Given the description of an element on the screen output the (x, y) to click on. 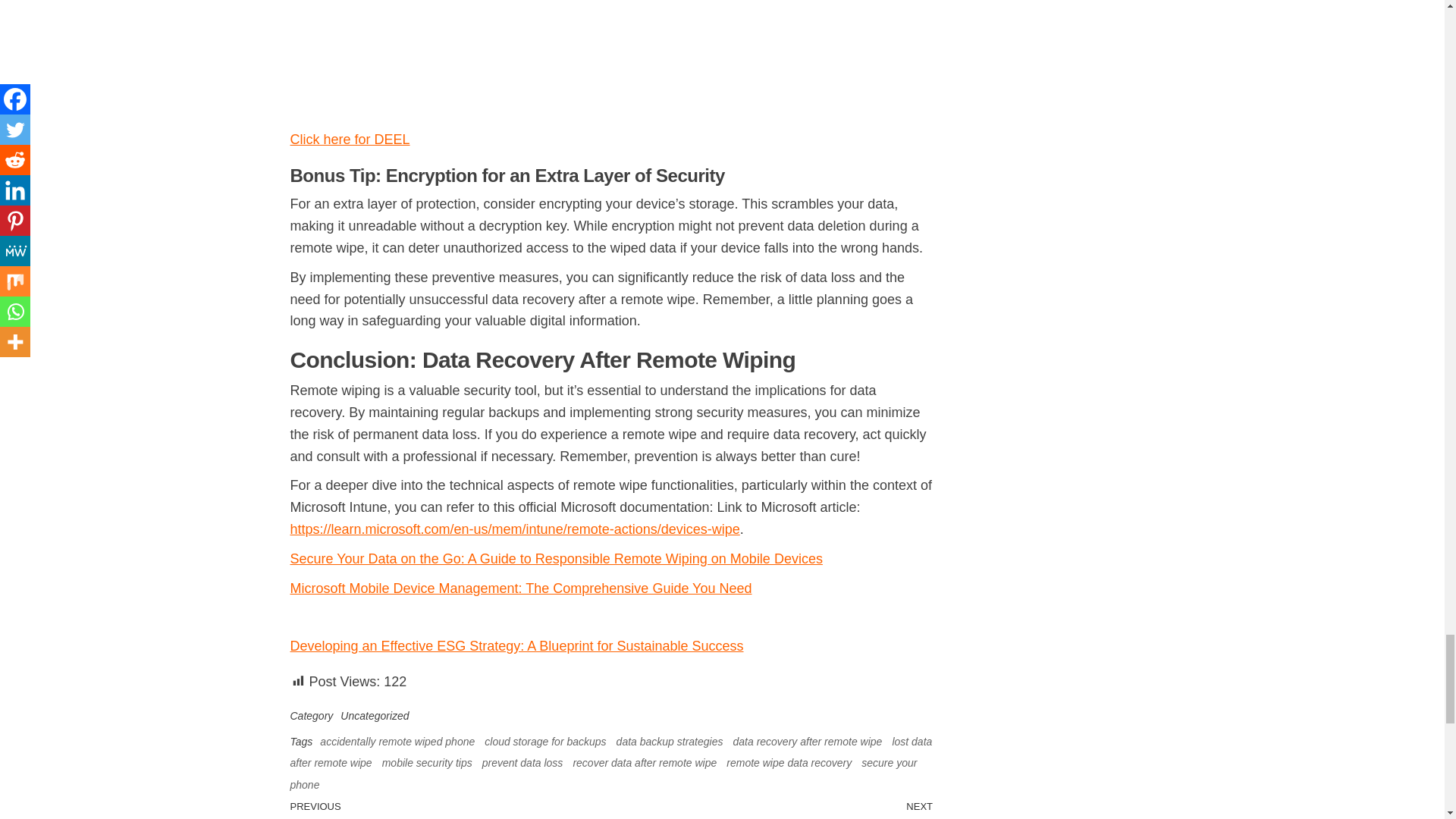
Click here for DEEL (349, 139)
Uncategorized (374, 715)
